Given the description of an element on the screen output the (x, y) to click on. 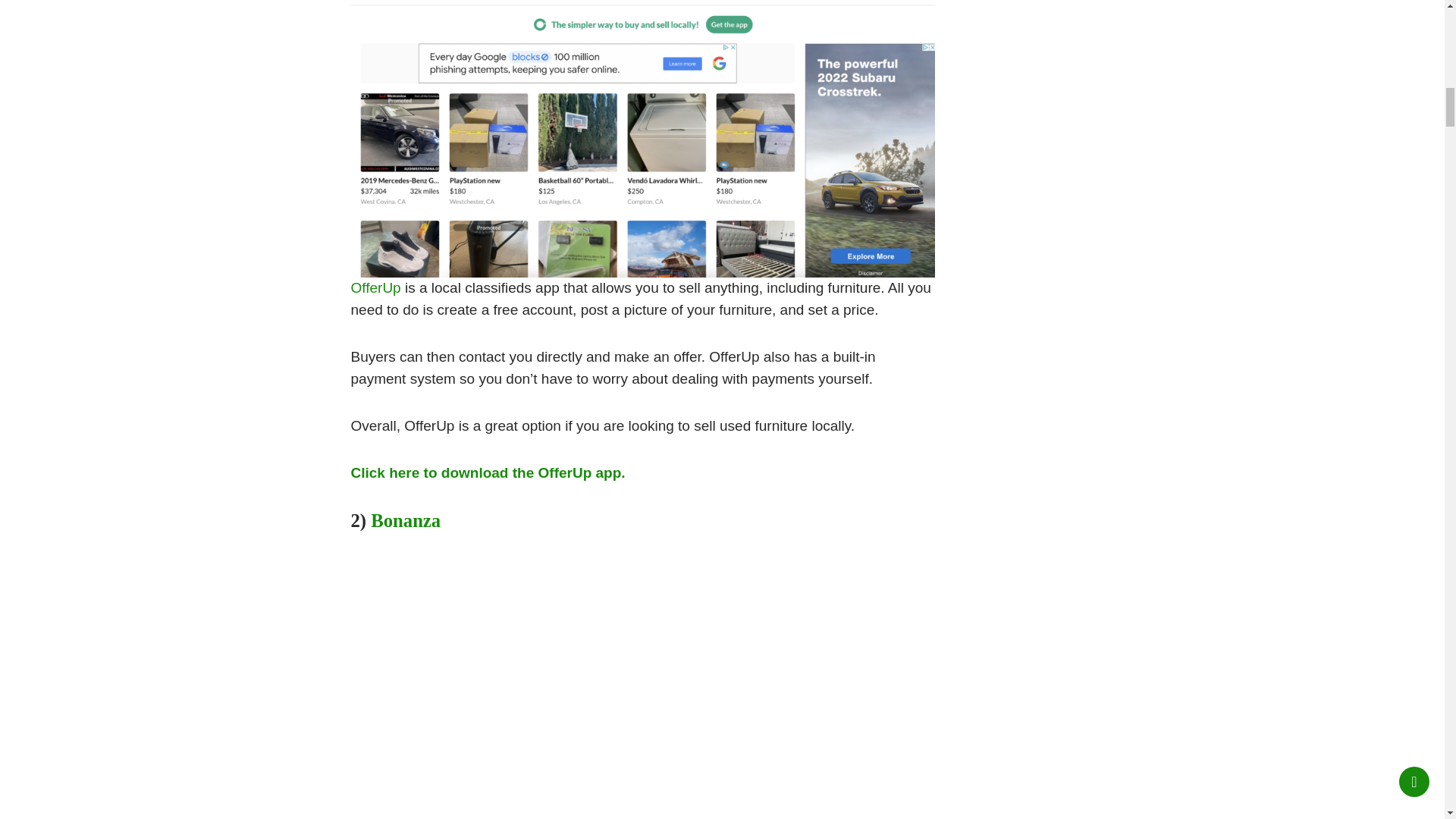
Bonanza (406, 520)
OfferUp (375, 287)
Click here to download the OfferUp app. (487, 472)
